Given the description of an element on the screen output the (x, y) to click on. 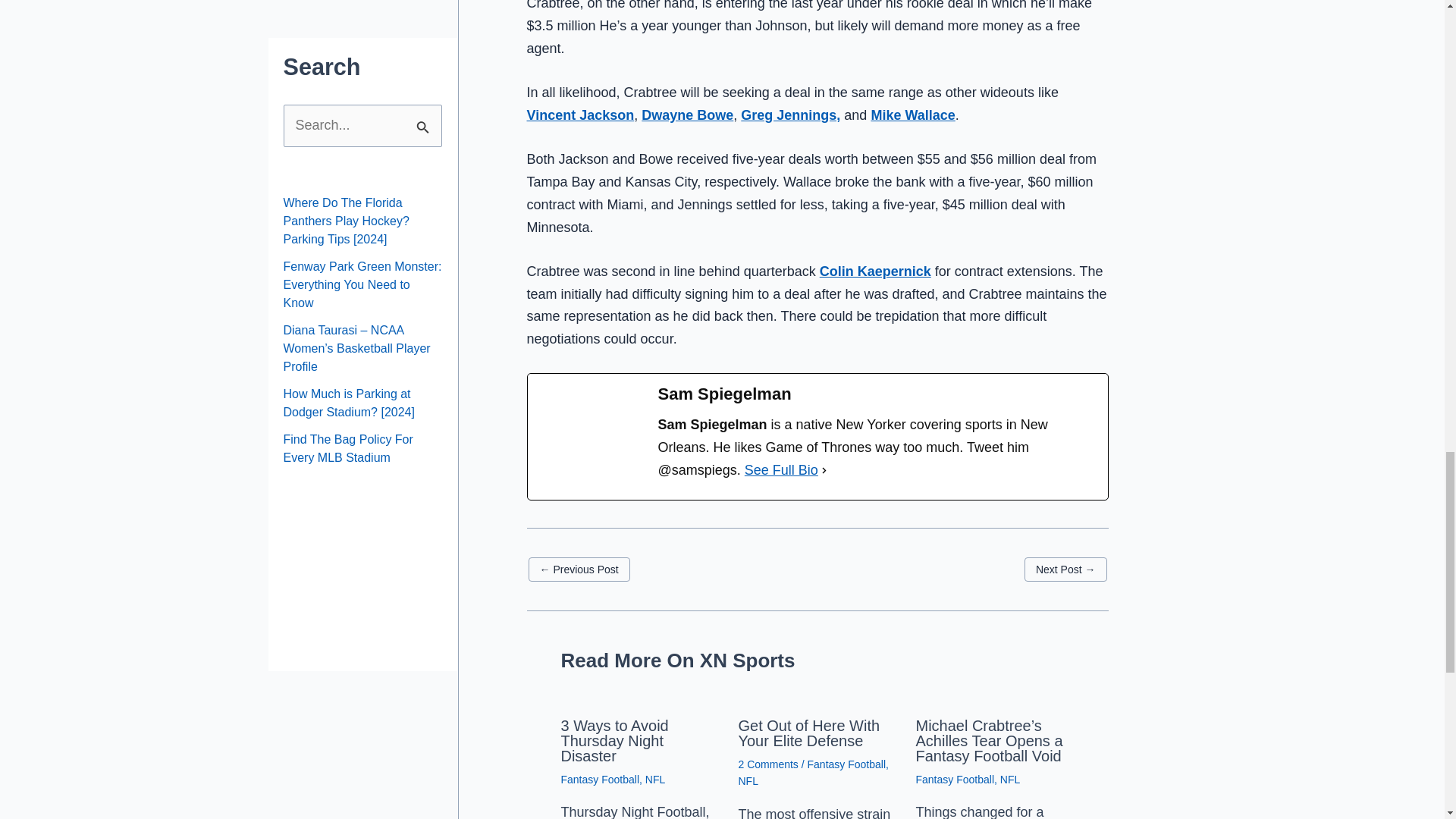
Daily Fantasy Baseball DFS Value Update and Lineup - May 12  (577, 569)
